Given the description of an element on the screen output the (x, y) to click on. 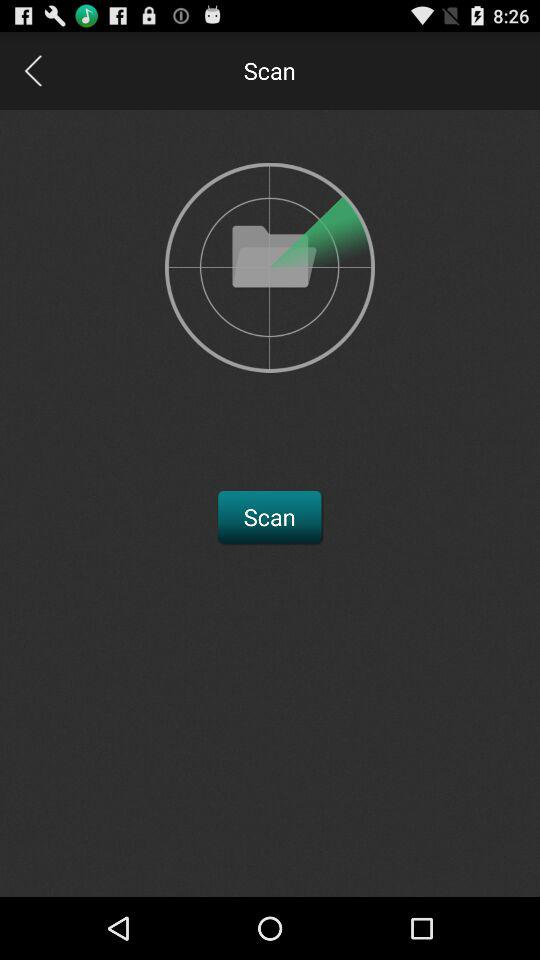
go back to the previous page (32, 70)
